Given the description of an element on the screen output the (x, y) to click on. 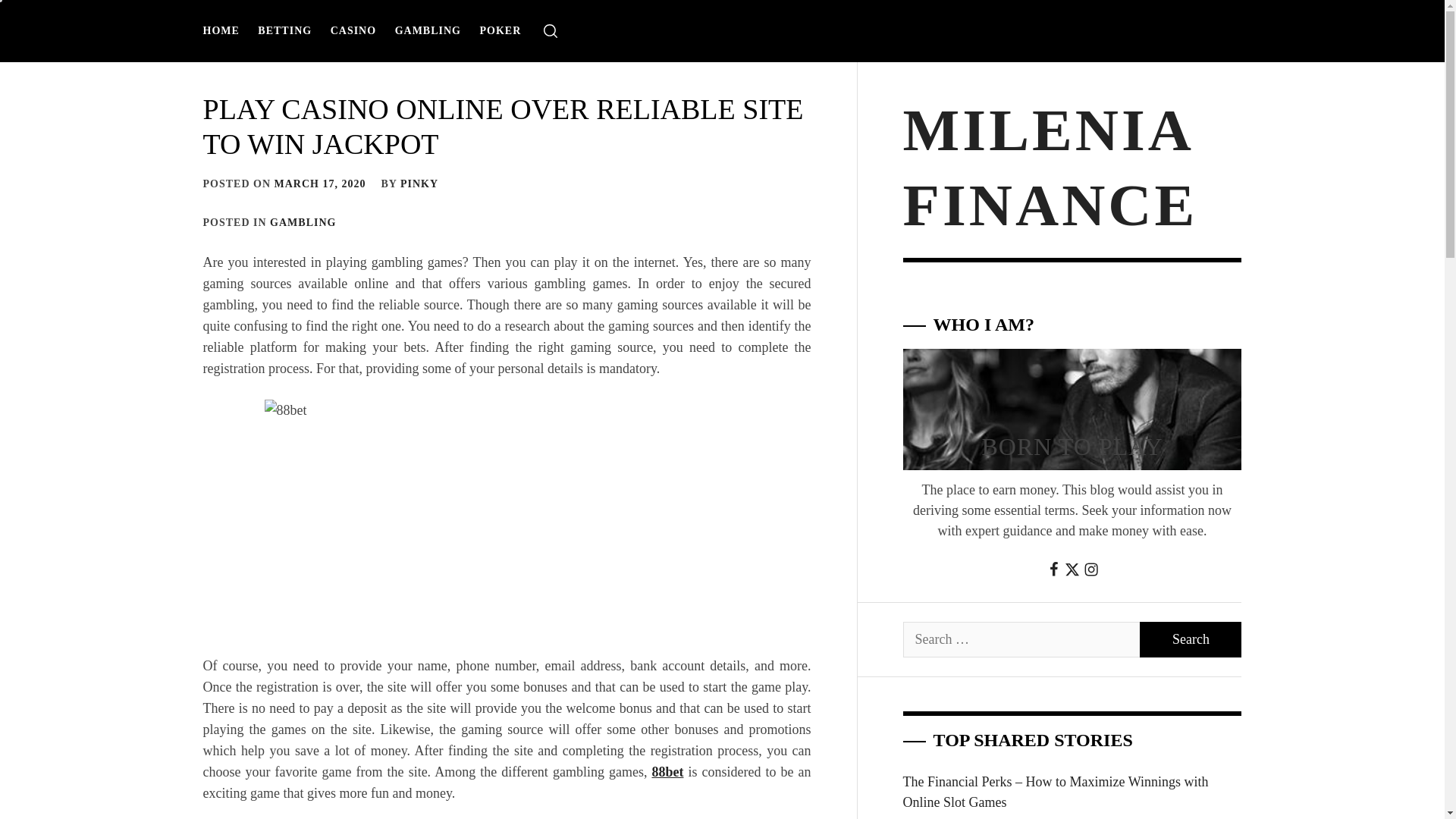
MILENIA FINANCE (1050, 167)
Search (1190, 639)
88bet (666, 771)
CASINO (353, 30)
MARCH 17, 2020 (320, 183)
GAMBLING (302, 222)
GAMBLING (427, 30)
Search (1190, 639)
Search (1190, 639)
BETTING (284, 30)
